Given the description of an element on the screen output the (x, y) to click on. 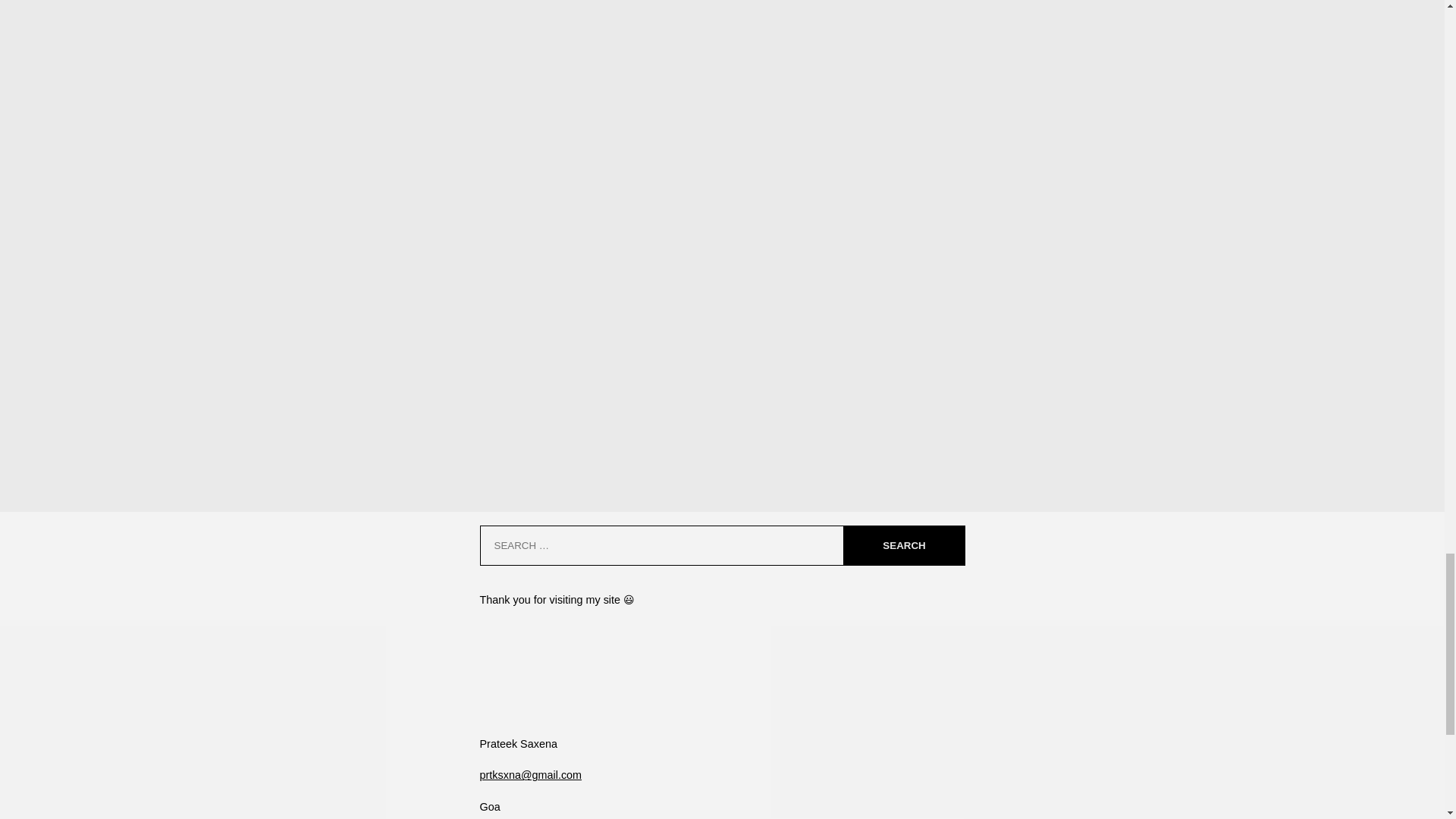
Search (903, 545)
Search (903, 545)
Search (903, 545)
